Given the description of an element on the screen output the (x, y) to click on. 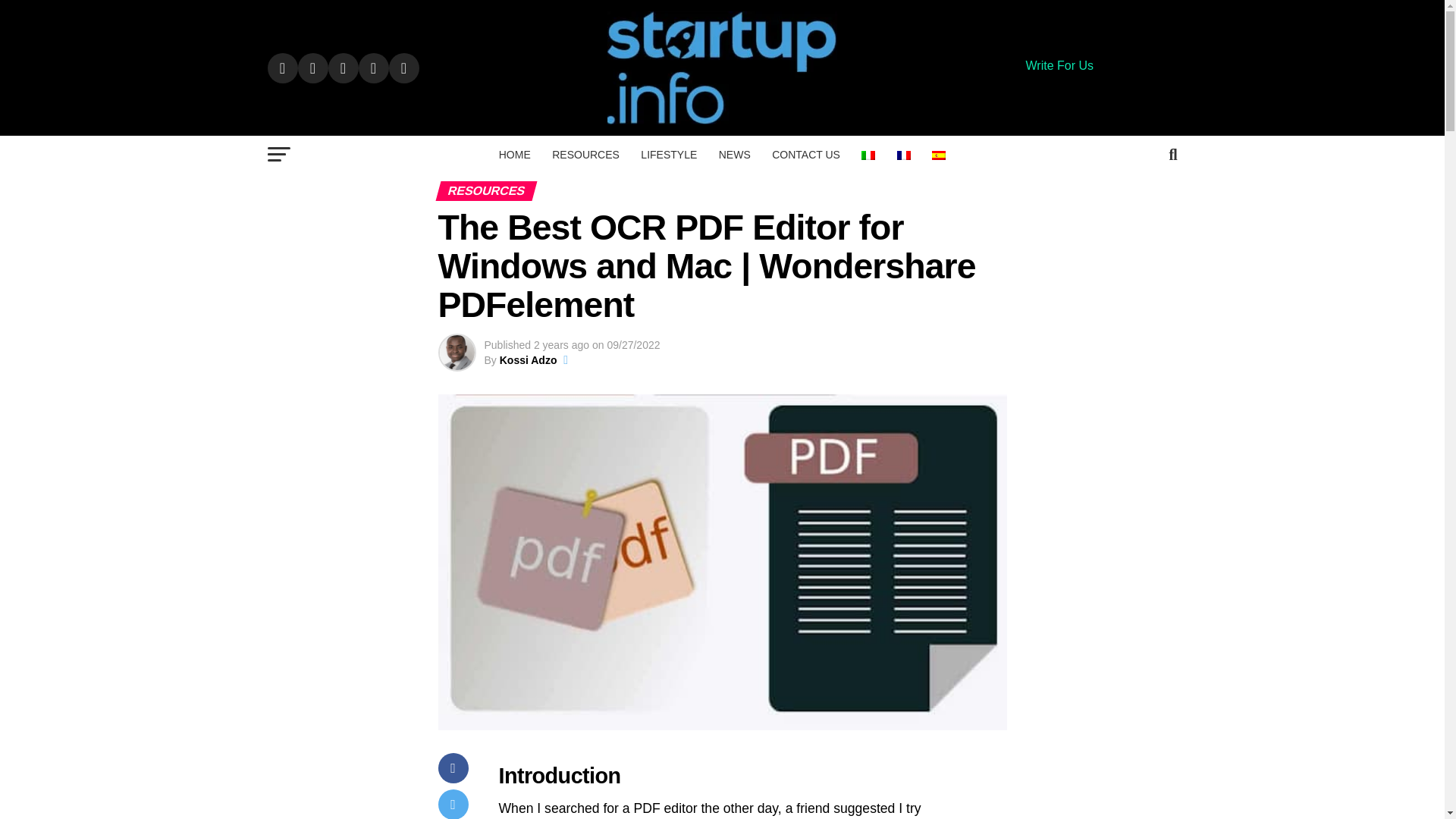
NEWS (735, 154)
LIFESTYLE (668, 154)
HOME (514, 154)
RESOURCES (585, 154)
Write For Us (1059, 65)
